Given the description of an element on the screen output the (x, y) to click on. 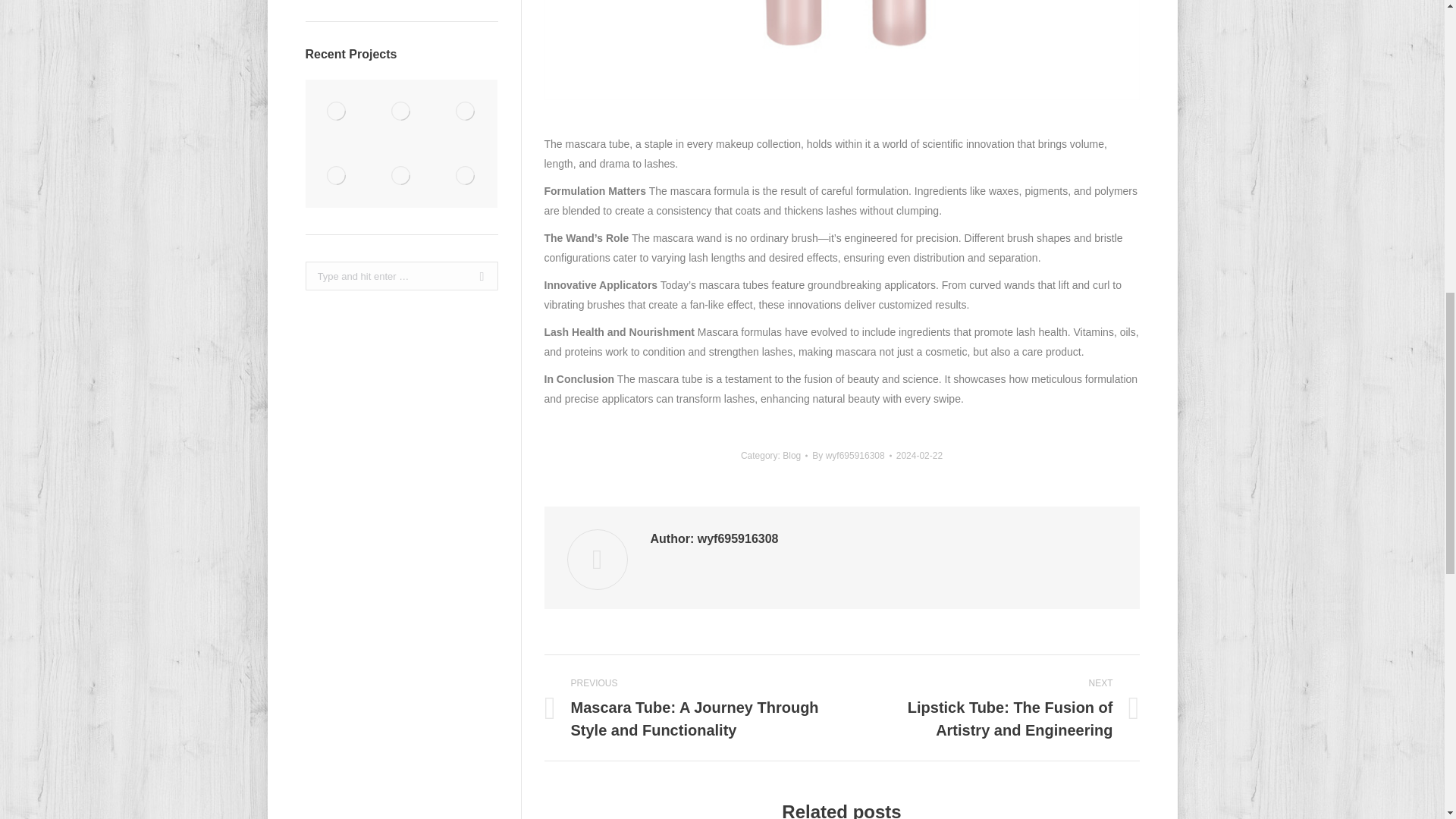
Hot sale empty small acrylic cosmetic jar (336, 176)
Go! (476, 275)
Hot sale 50ml empty glass cosmetic jar (401, 176)
View all posts by wyf695916308 (851, 455)
Factory wholesale price cheap mascara tube (401, 111)
08:43 (919, 455)
Gold silver cosmetic lotion airless pump bottle (465, 111)
Hot sale cosmetic clear frosted glass jars (465, 176)
Hot sale matte aluminum cosmetic tube (336, 111)
Go! (476, 275)
